Given the description of an element on the screen output the (x, y) to click on. 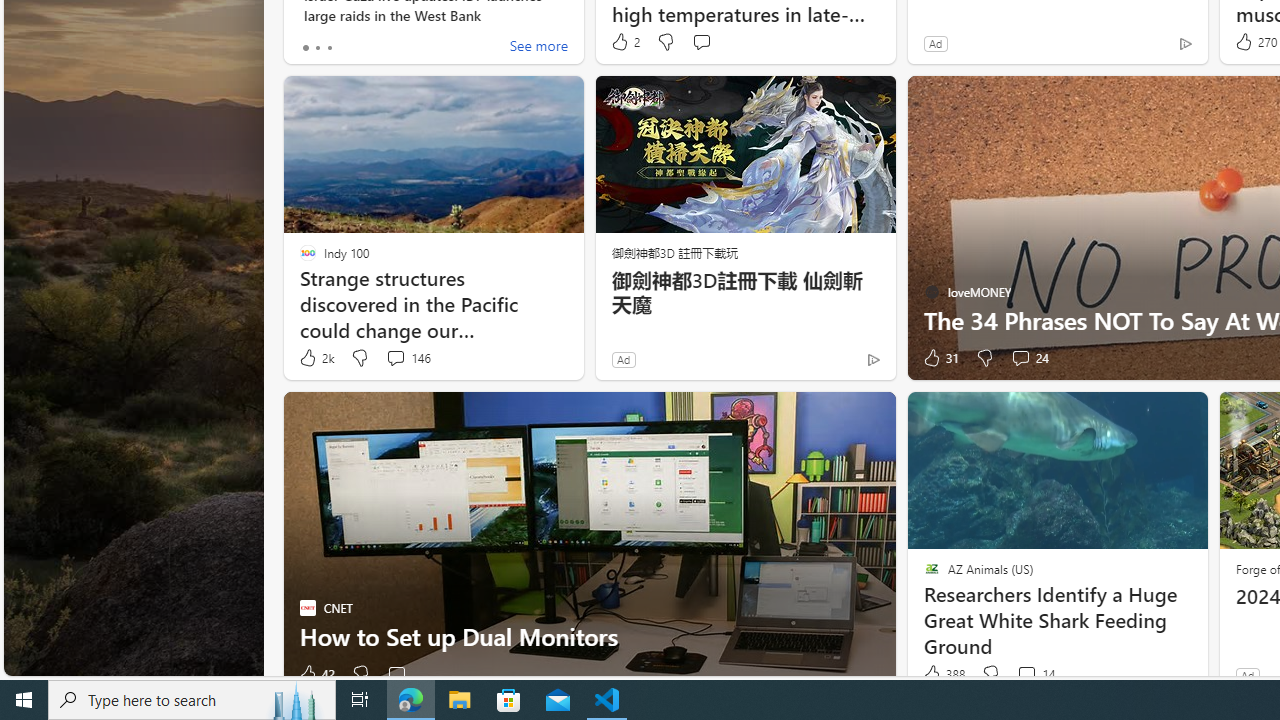
tab-1 (317, 47)
View comments 14 Comment (1035, 674)
View comments 146 Comment (408, 358)
tab-2 (328, 47)
2k Like (315, 358)
View comments 24 Comment (1019, 357)
View comments 14 Comment (1026, 673)
tab-0 (305, 47)
View comments 24 Comment (1029, 358)
31 Like (939, 358)
See more (538, 47)
Start the conversation (396, 673)
Ad (1247, 675)
